Given the description of an element on the screen output the (x, y) to click on. 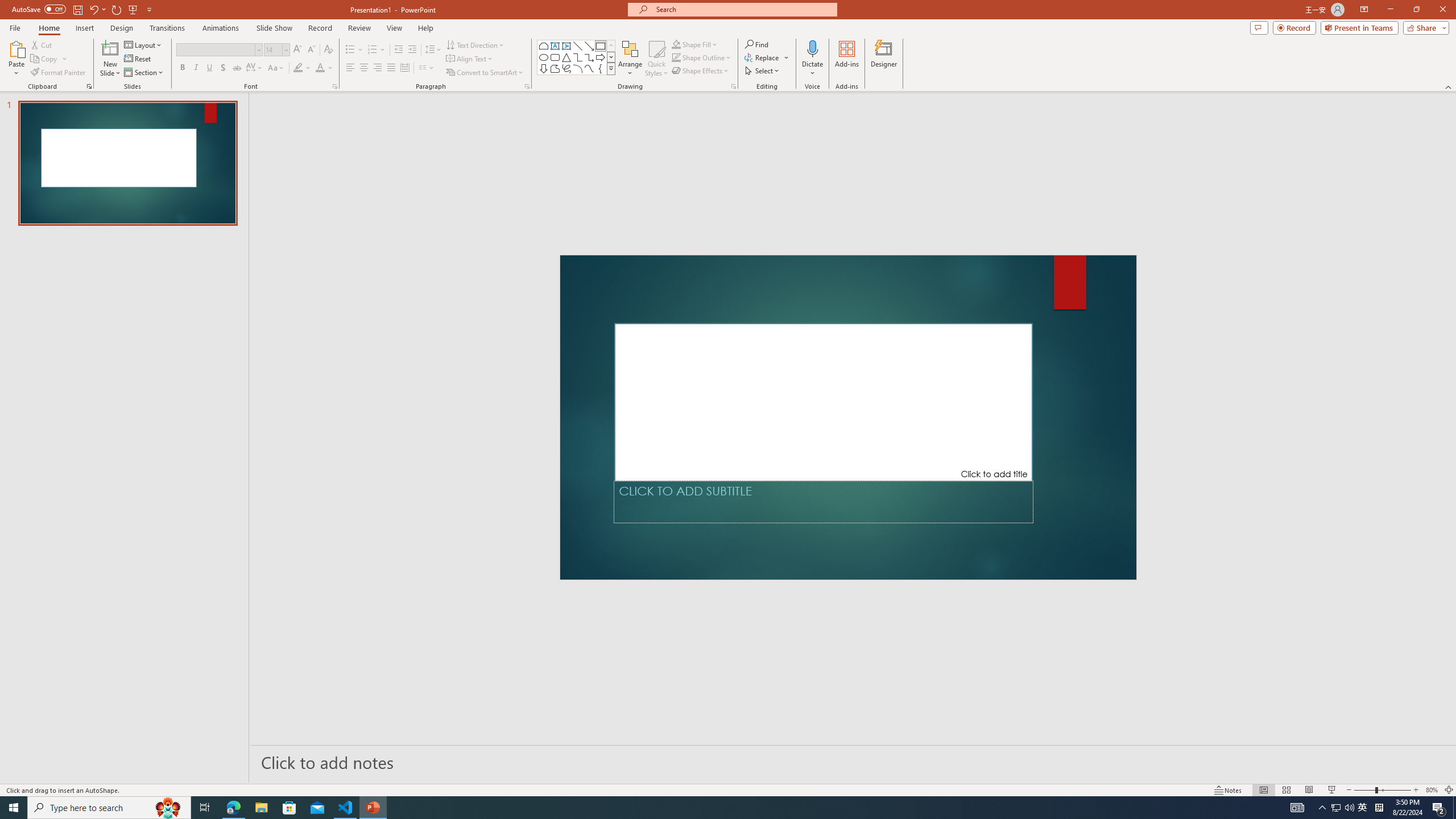
Shape Fill Orange, Accent 2 (675, 44)
